Given the description of an element on the screen output the (x, y) to click on. 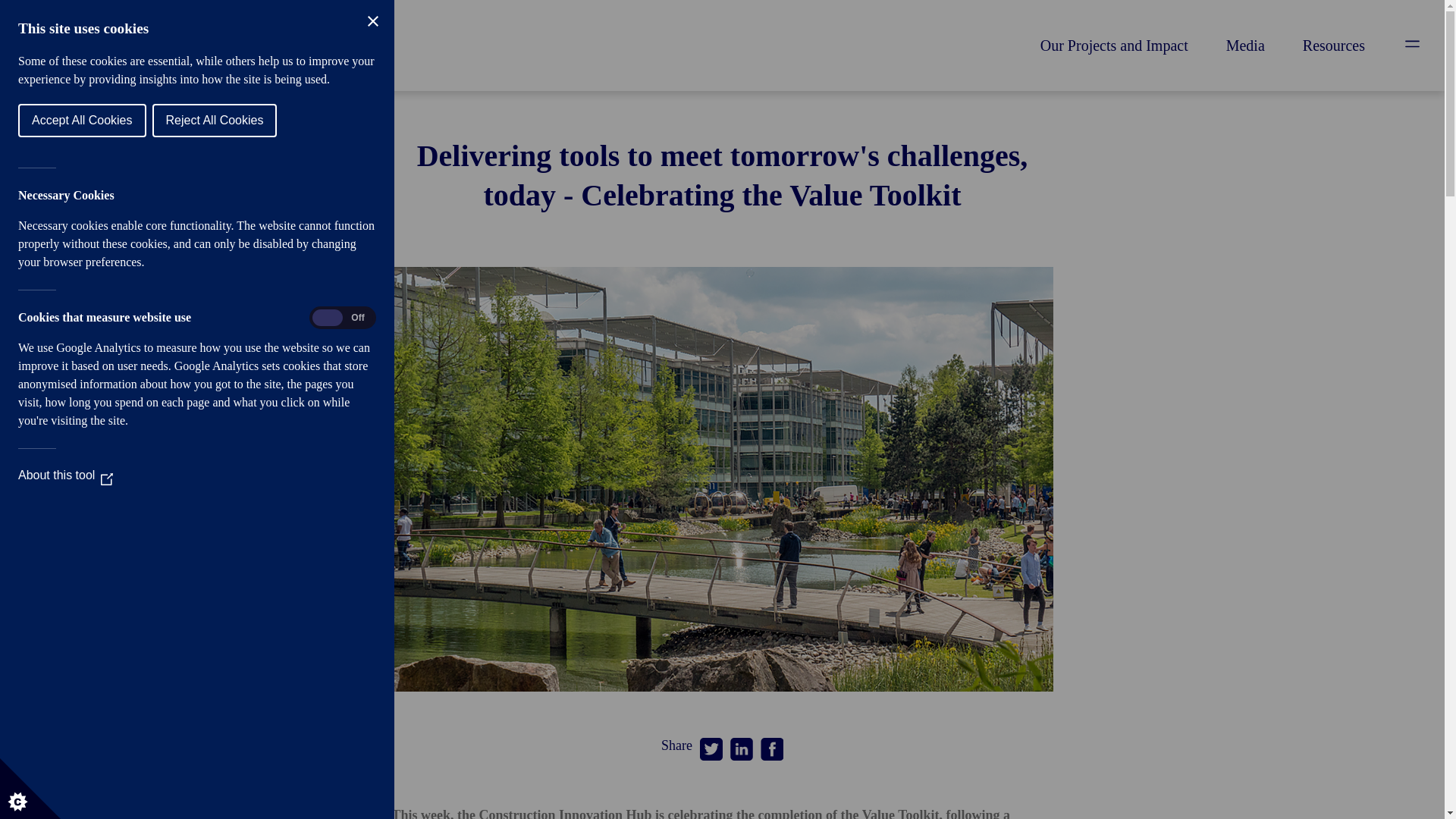
Resources (1334, 45)
Reject All Cookies (21, 120)
Our Projects and Impact (1114, 45)
Media (1245, 45)
